Given the description of an element on the screen output the (x, y) to click on. 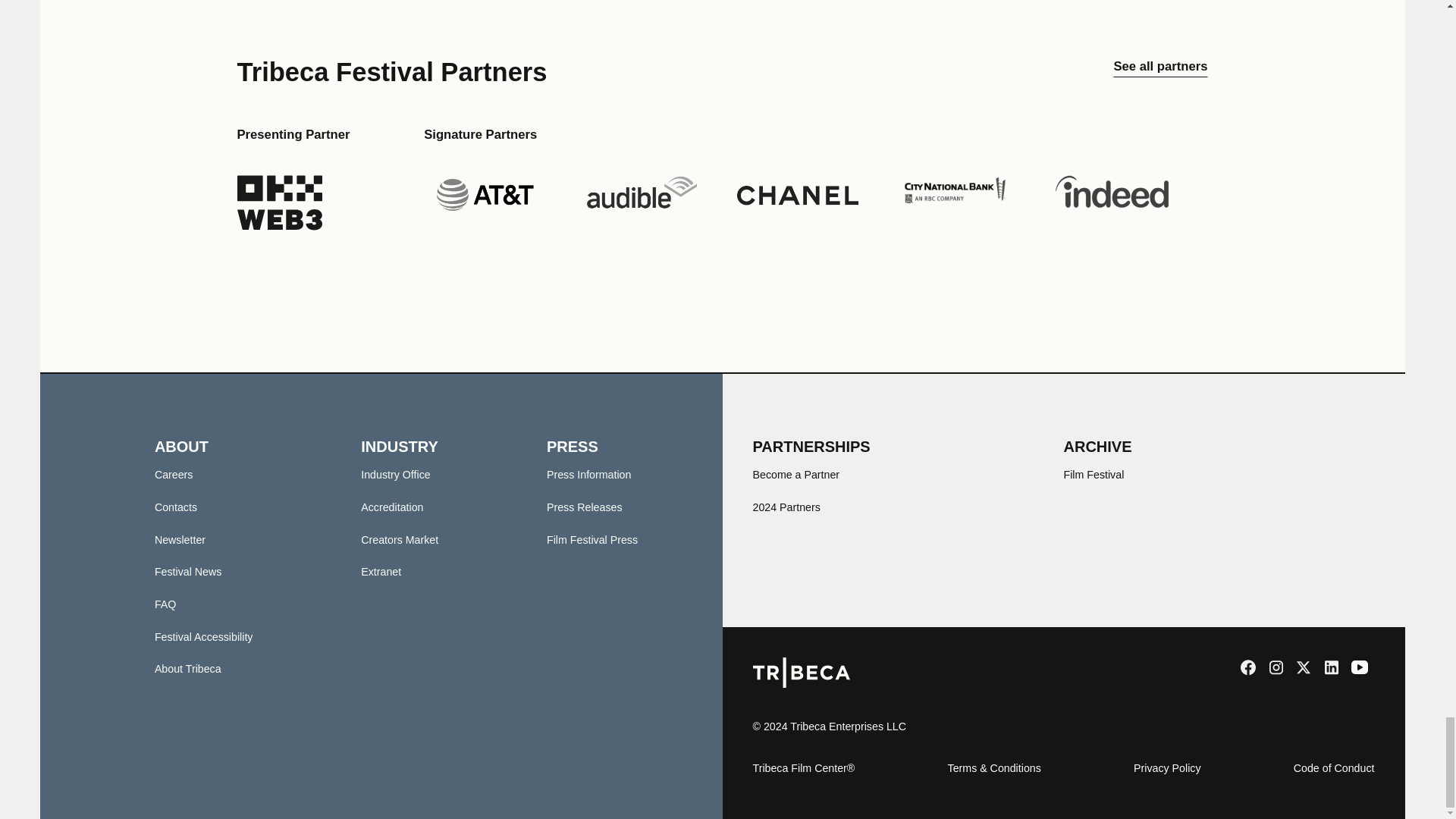
Careers (173, 474)
Newsletter (179, 539)
Contacts (175, 507)
See all partners (1160, 71)
Festival News (188, 571)
